Given the description of an element on the screen output the (x, y) to click on. 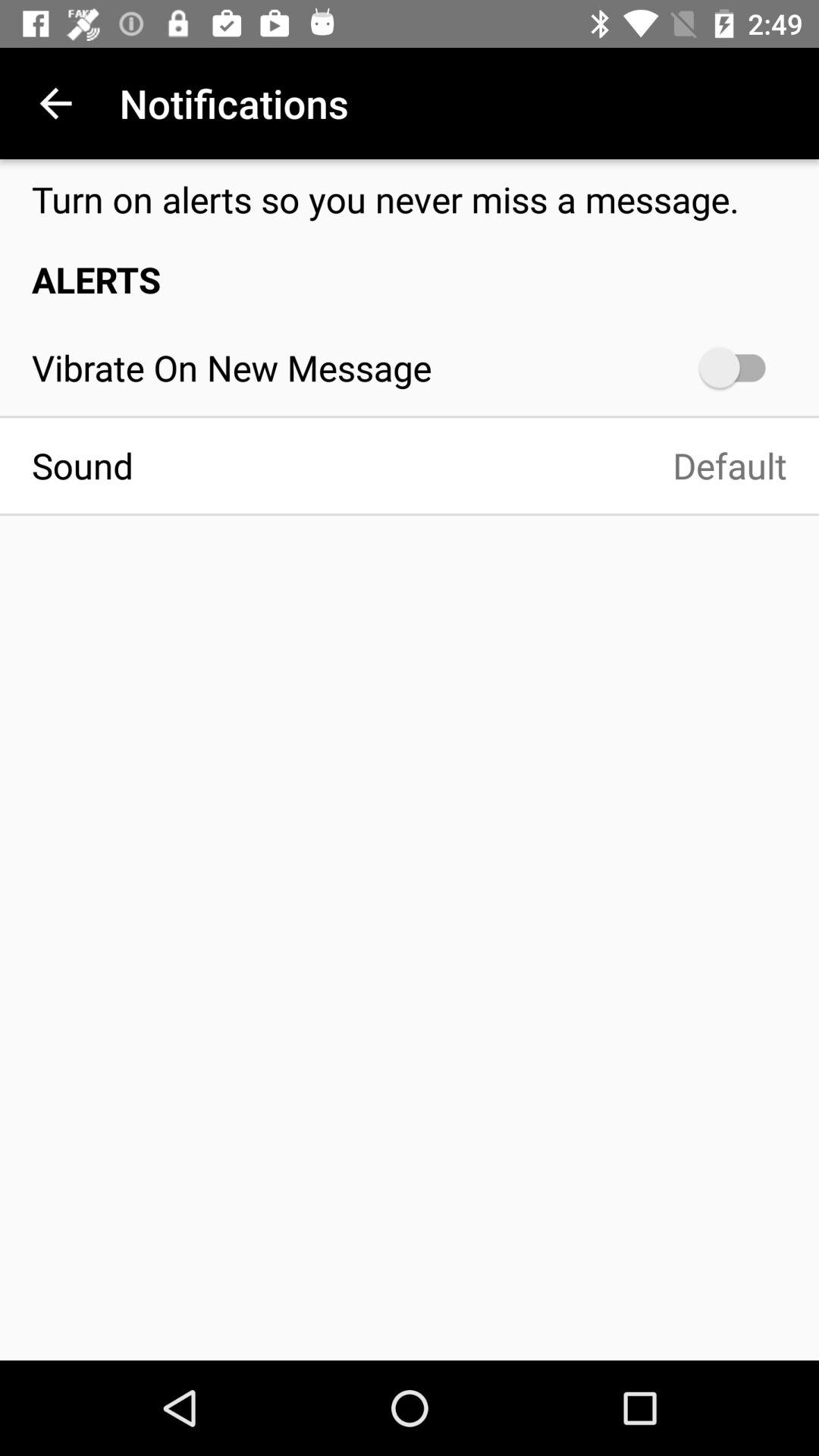
turn on the item below alerts item (739, 367)
